Given the description of an element on the screen output the (x, y) to click on. 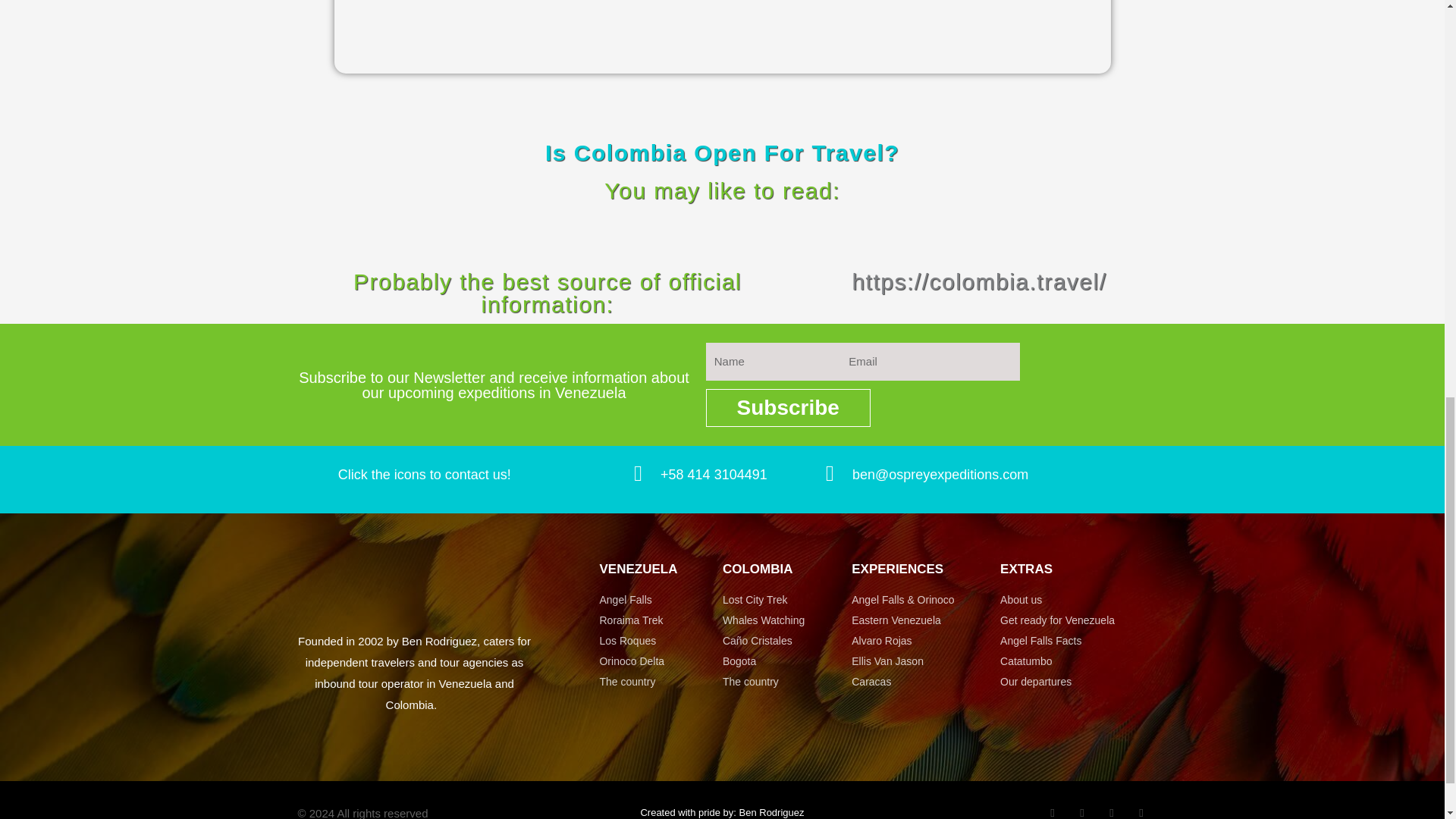
Orinoco Delta (660, 661)
Los Roques (660, 641)
VENEZUELA (637, 568)
Subscribe (788, 407)
Roraima Trek (660, 620)
Angel Falls (660, 600)
